Given the description of an element on the screen output the (x, y) to click on. 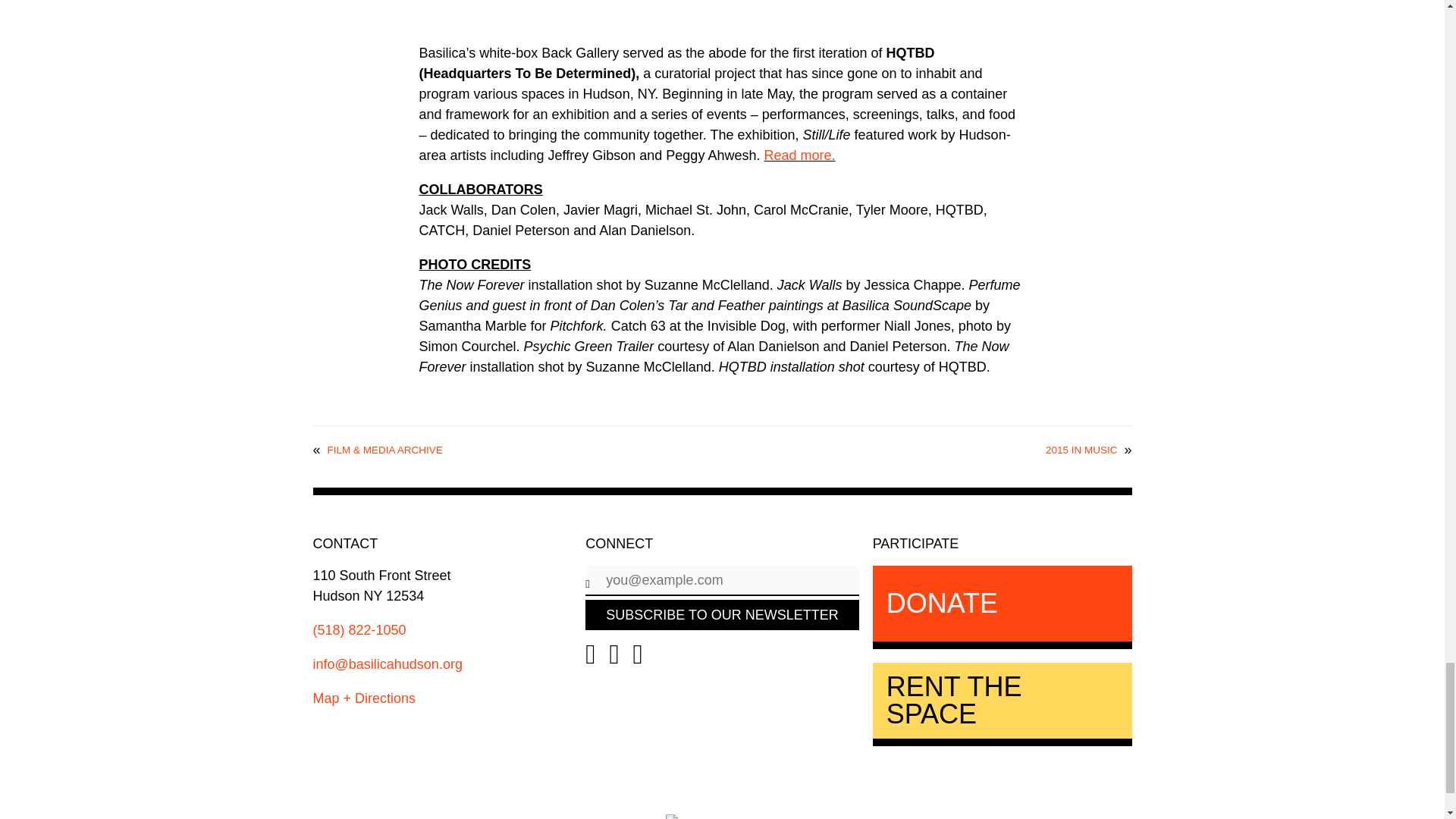
Read more. (798, 155)
2015 IN MUSIC (1081, 449)
Subscribe to our Newsletter (722, 614)
